Given the description of an element on the screen output the (x, y) to click on. 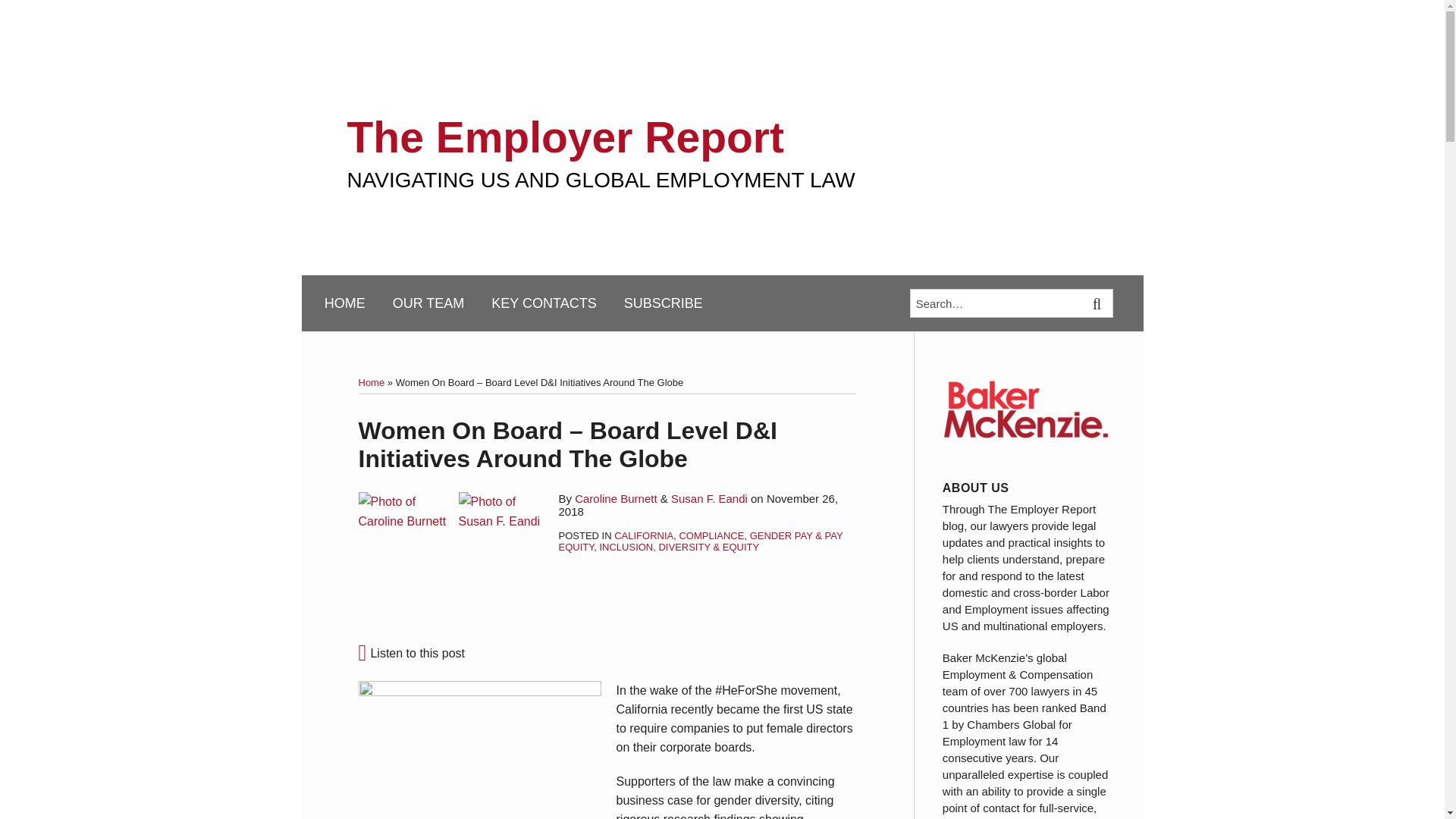
Home (371, 382)
CALIFORNIA (643, 535)
COMPLIANCE (711, 535)
KEY CONTACTS (543, 303)
SEARCH (1098, 302)
Susan F. Eandi (709, 498)
HOME (344, 303)
SUBSCRIBE (663, 303)
OUR TEAM (428, 303)
The Employer Report (565, 137)
Caroline Burnett (615, 498)
